Given the description of an element on the screen output the (x, y) to click on. 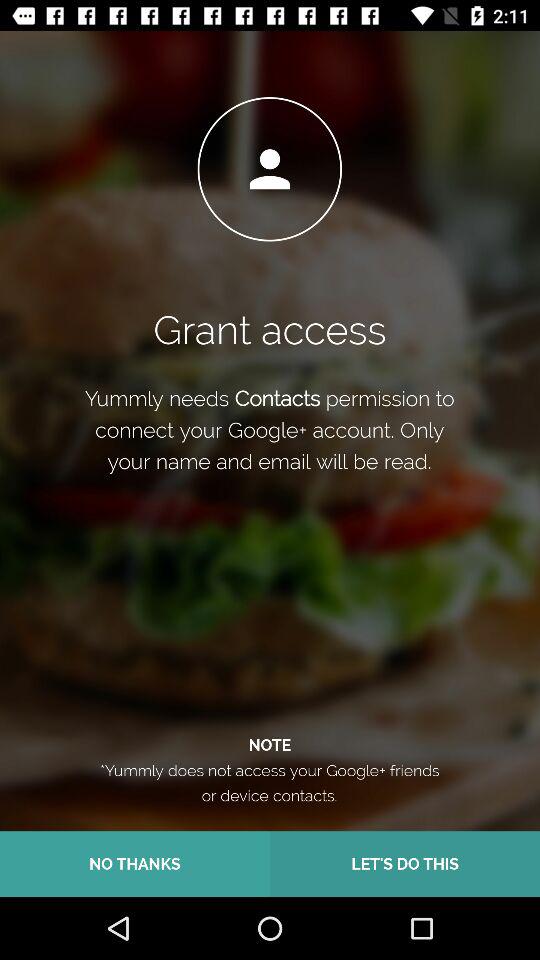
press the icon next to the let s do item (135, 863)
